Given the description of an element on the screen output the (x, y) to click on. 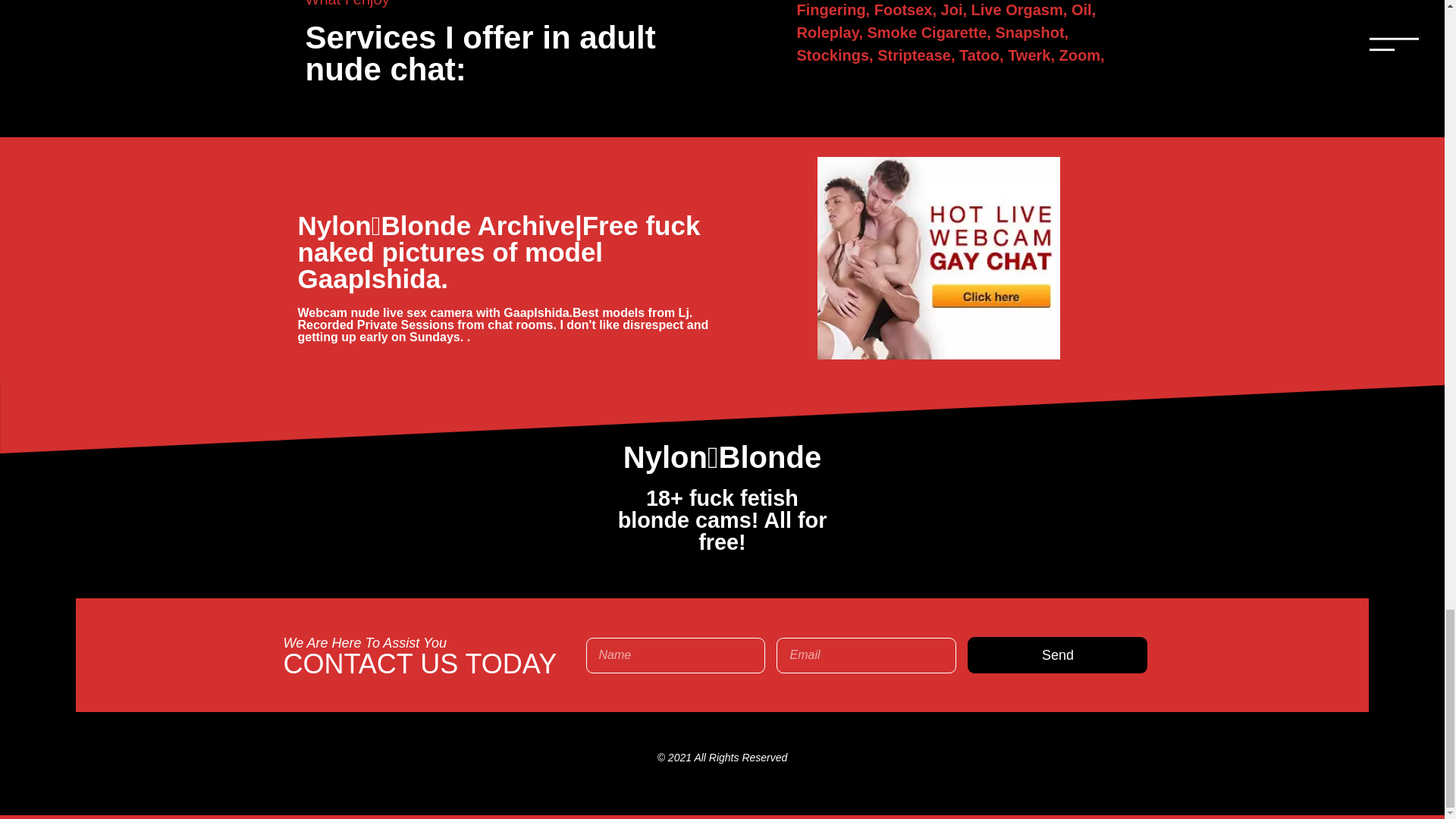
Roleplay (831, 32)
Smoke Cigarette (931, 32)
Zoom (1082, 54)
Fingering (834, 9)
Joi (955, 9)
Oil (1083, 9)
Twerk (1032, 54)
Live Orgasm (1021, 9)
Smoke Cigarette (931, 32)
Roleplay (831, 32)
Snapshot (1031, 32)
Live Orgasm (1021, 9)
Send (1057, 655)
Footsex (907, 9)
Fingering (834, 9)
